Given the description of an element on the screen output the (x, y) to click on. 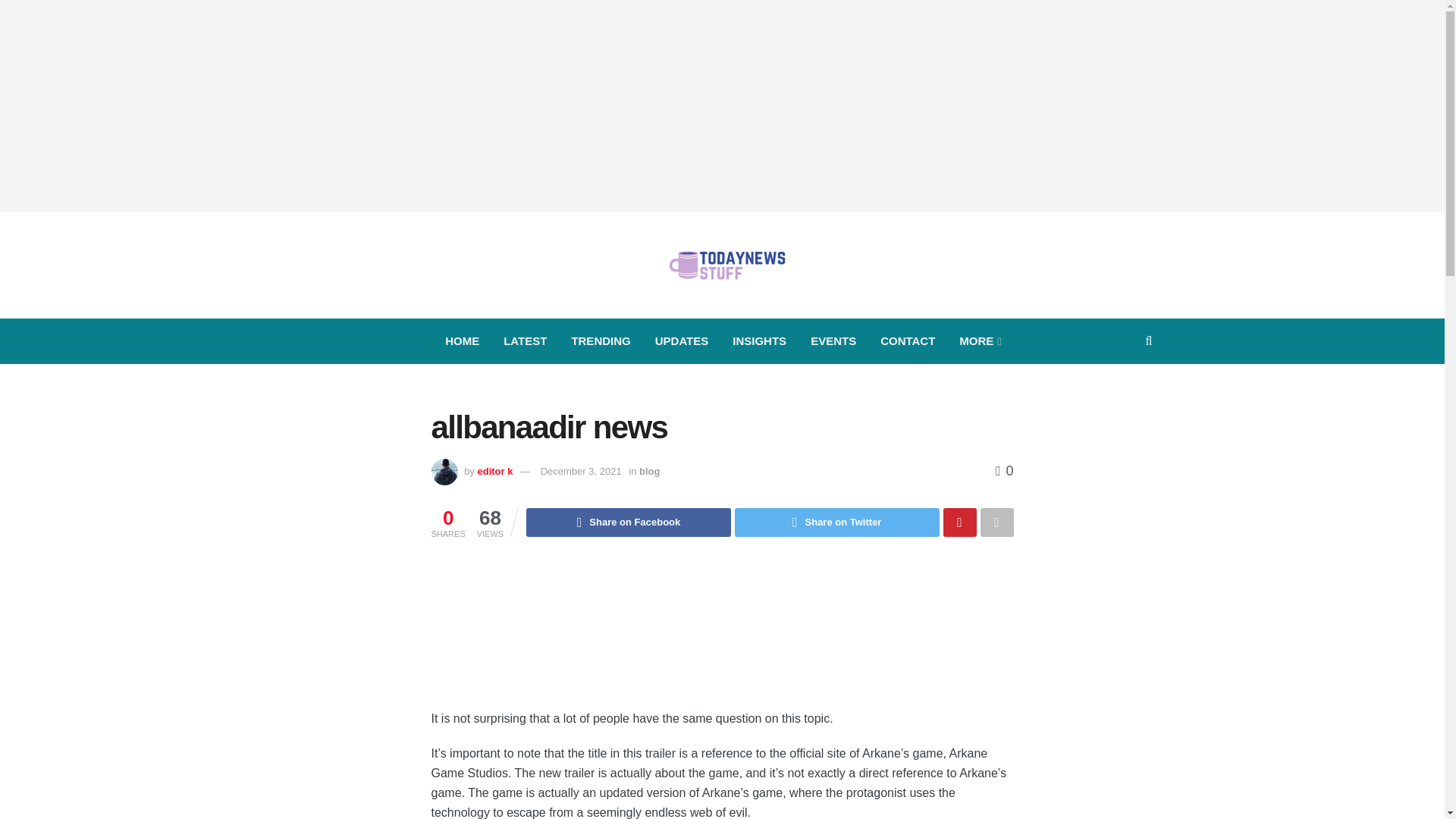
INSIGHTS (758, 340)
LATEST (525, 340)
UPDATES (681, 340)
TRENDING (600, 340)
blog (649, 471)
Advertisement (721, 636)
CONTACT (907, 340)
MORE (978, 340)
December 3, 2021 (580, 471)
editor k (494, 471)
HOME (462, 340)
EVENTS (832, 340)
